Given the description of an element on the screen output the (x, y) to click on. 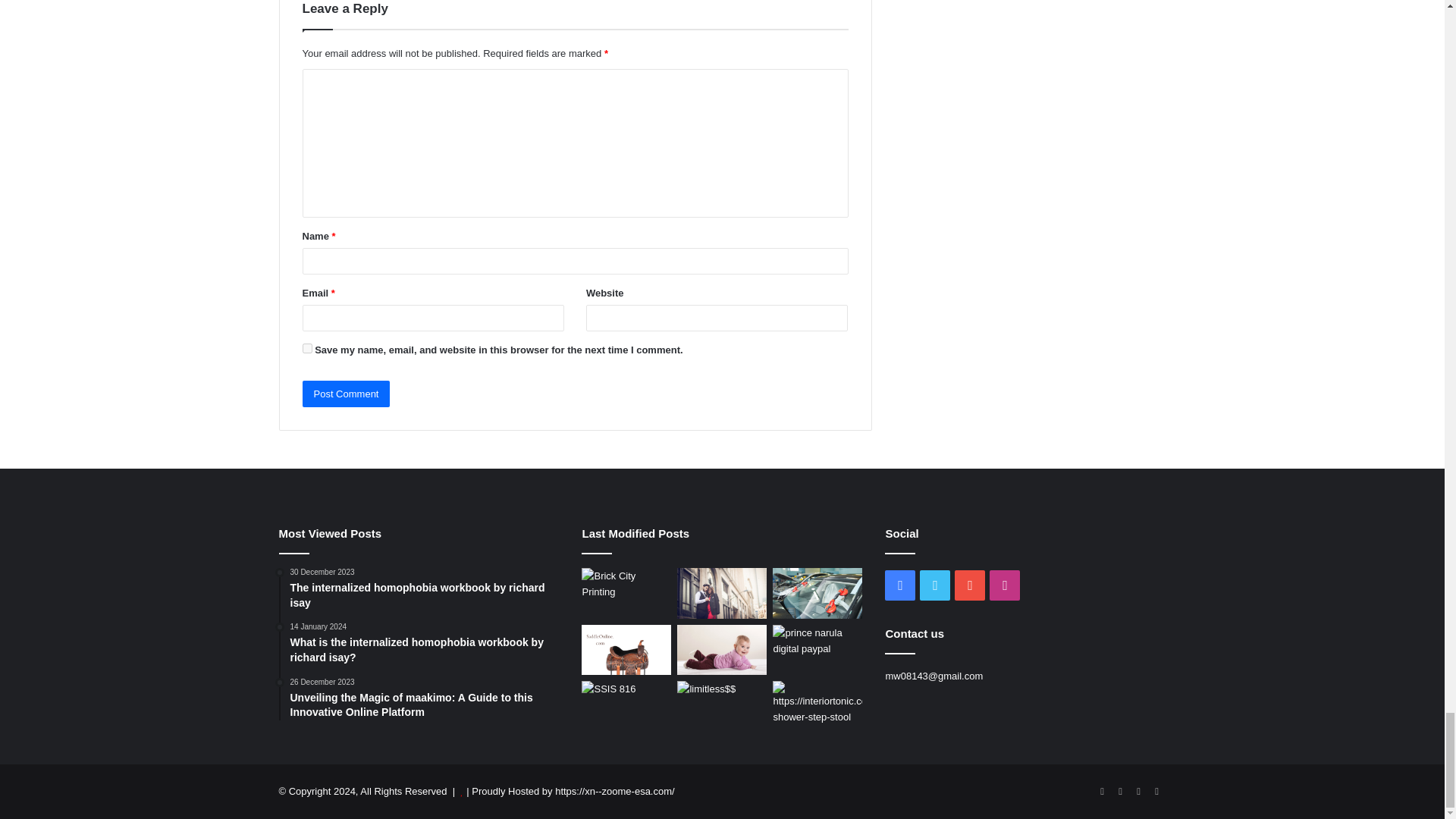
yes (306, 347)
Post Comment (345, 393)
